Given the description of an element on the screen output the (x, y) to click on. 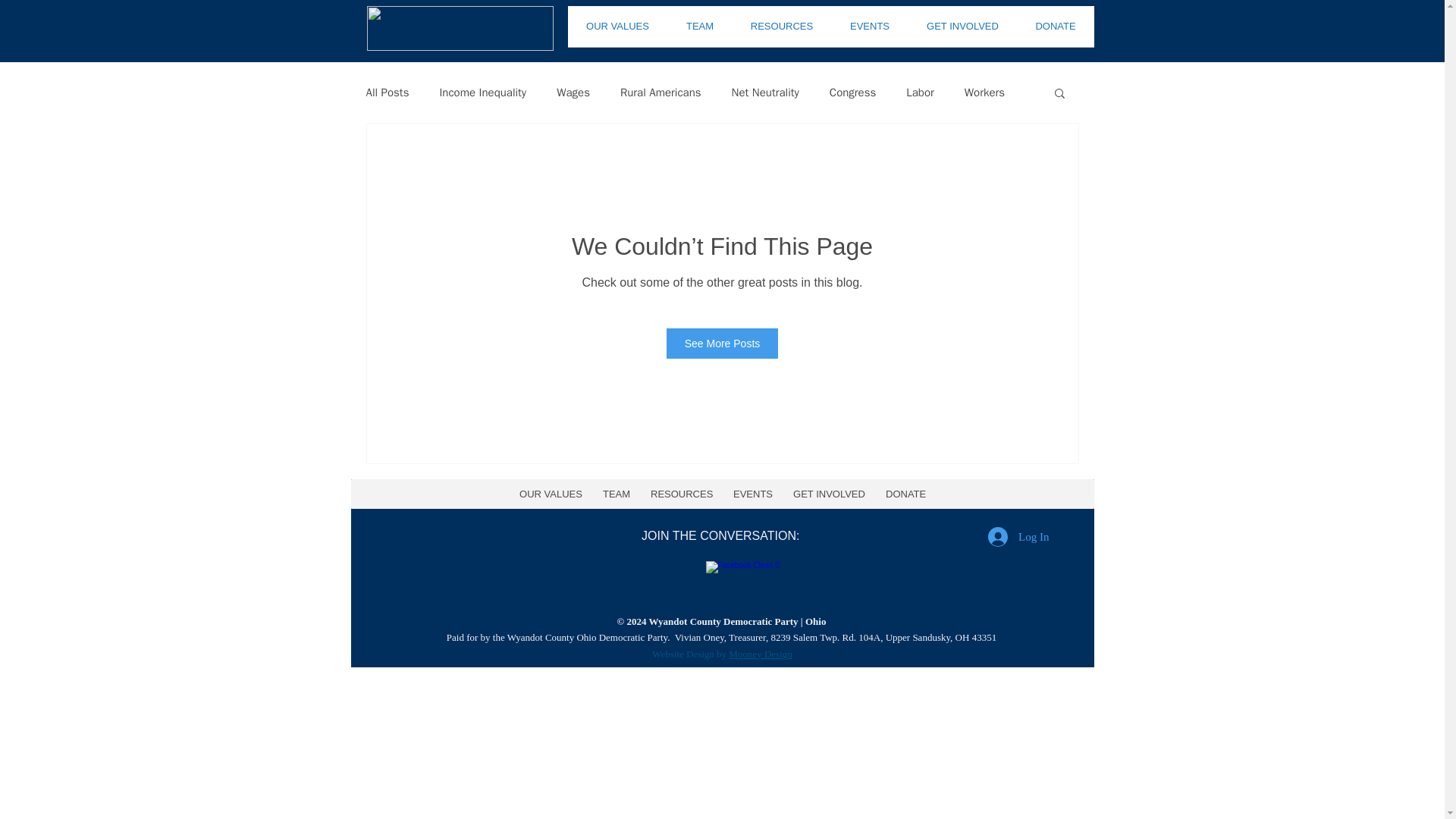
Rural Americans (660, 92)
RESOURCES (781, 30)
EVENTS (869, 30)
Workers (983, 92)
Labor (919, 92)
DONATE (1055, 30)
OUR VALUES (616, 30)
Wages (572, 92)
TEAM (699, 30)
Net Neutrality (765, 92)
